Given the description of an element on the screen output the (x, y) to click on. 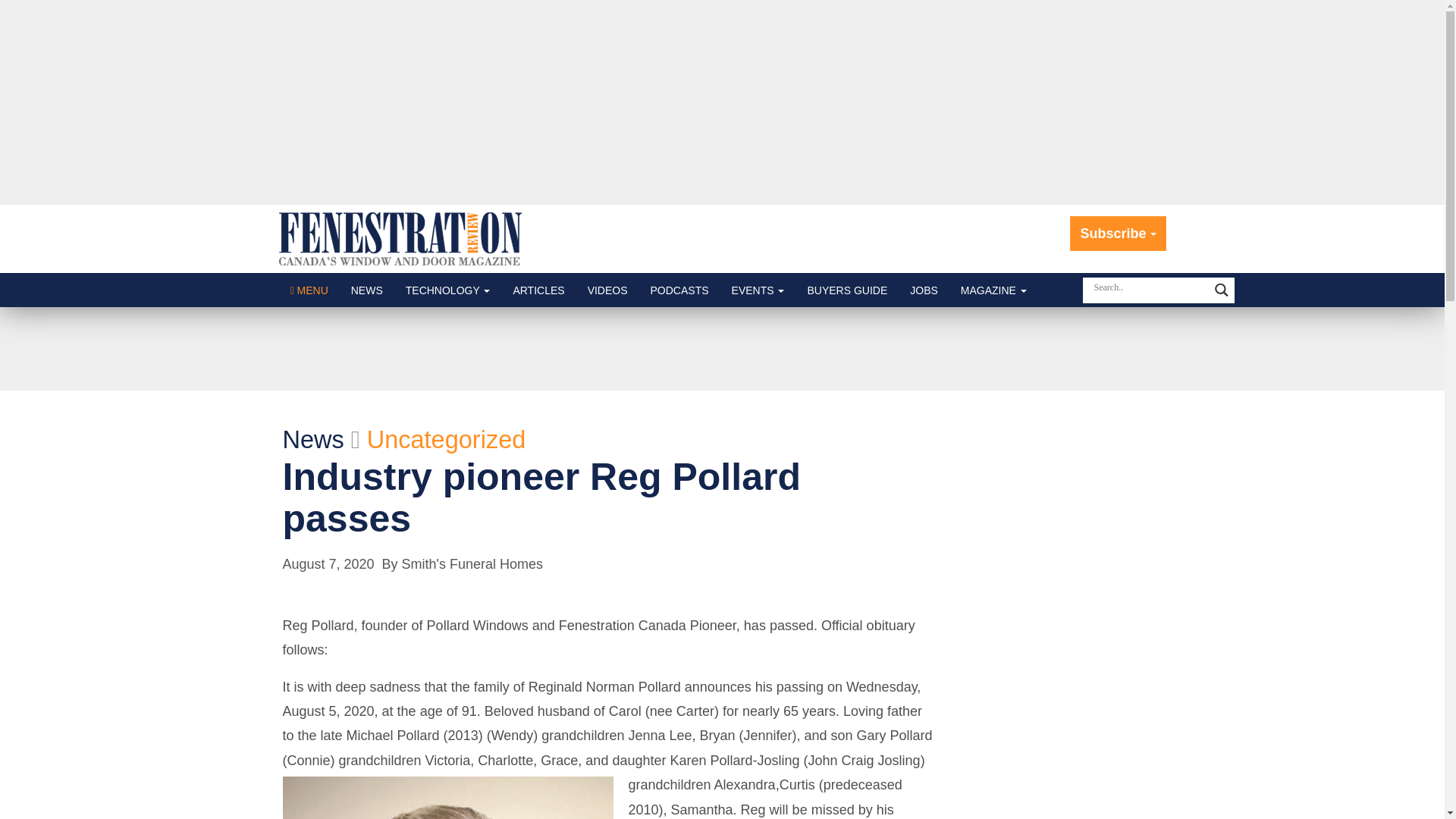
VIDEOS (607, 289)
TECHNOLOGY (448, 289)
MAGAZINE (993, 289)
Fenestration Review (400, 237)
NEWS (366, 289)
Subscribe (1118, 233)
Click to show site navigation (309, 289)
JOBS (923, 289)
ARTICLES (537, 289)
